Given the description of an element on the screen output the (x, y) to click on. 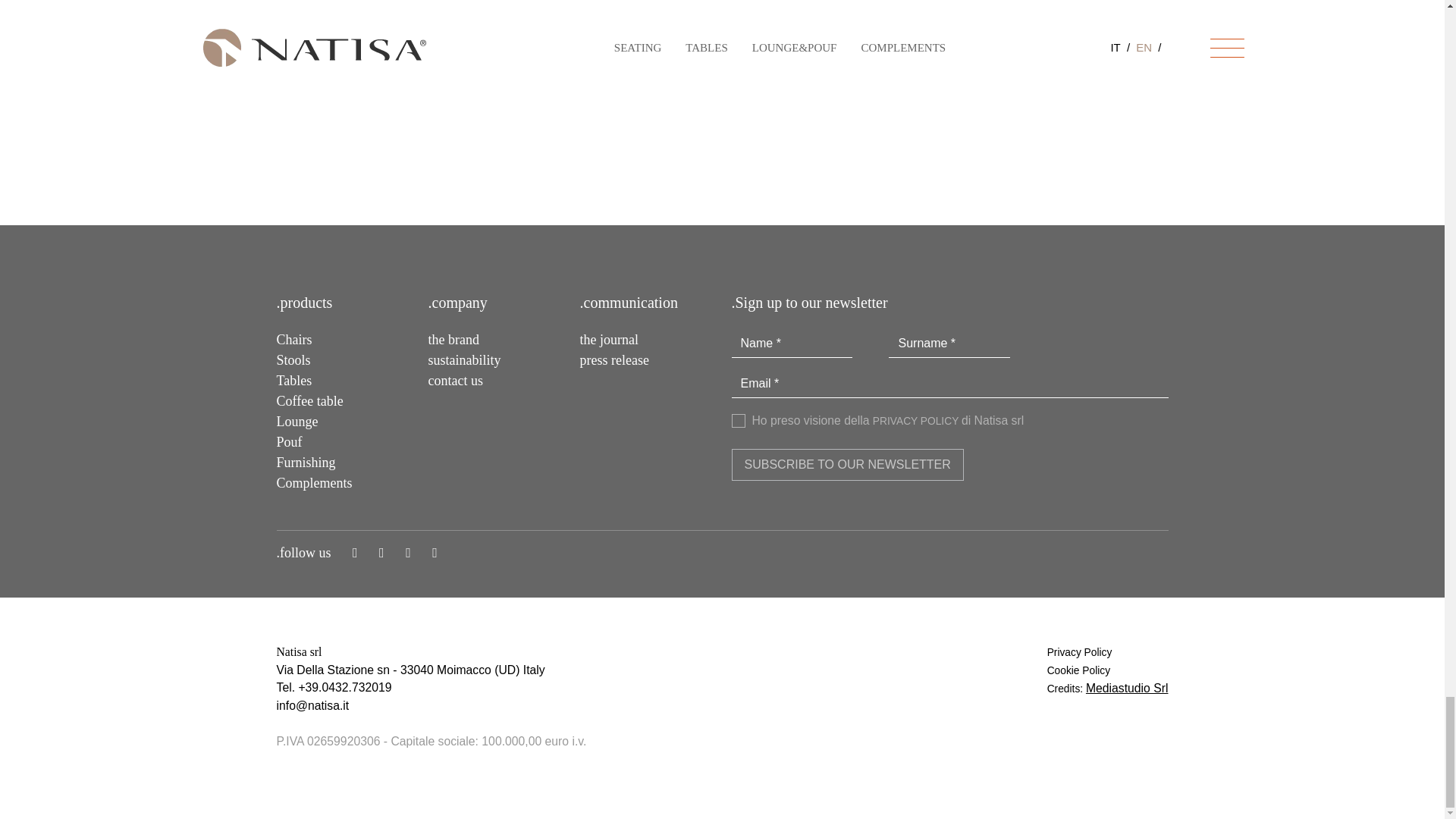
1 (737, 420)
Privacy Policy  (916, 420)
Cookie Policy  (1077, 670)
Privacy Policy  (1079, 652)
